Given the description of an element on the screen output the (x, y) to click on. 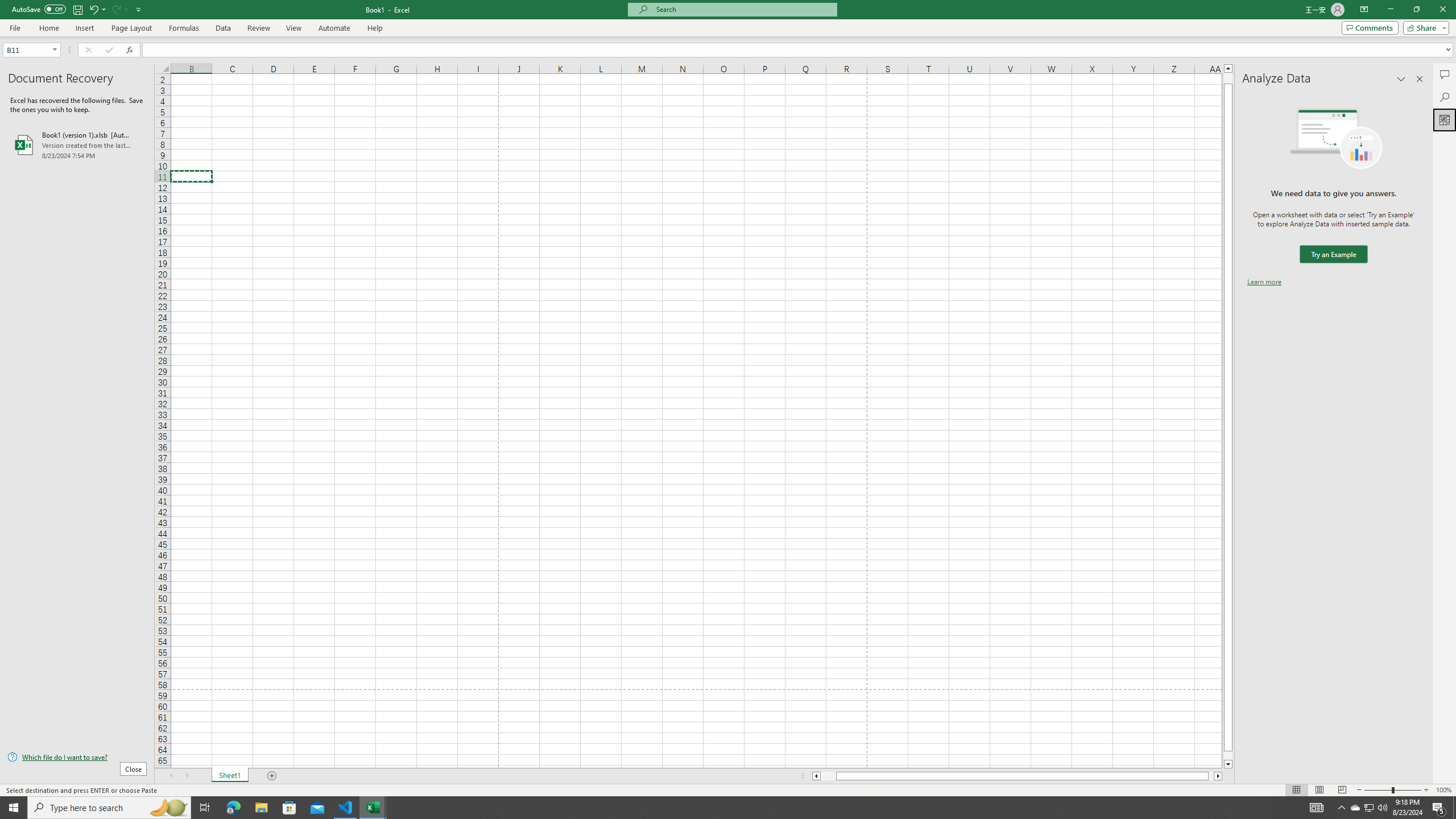
Task Pane Options (1400, 78)
Book1 (version 1).xlsb  [AutoRecovered] (77, 144)
Page up (1228, 77)
Learn more (1264, 281)
We need data to give you answers. Try an Example (1333, 253)
